Given the description of an element on the screen output the (x, y) to click on. 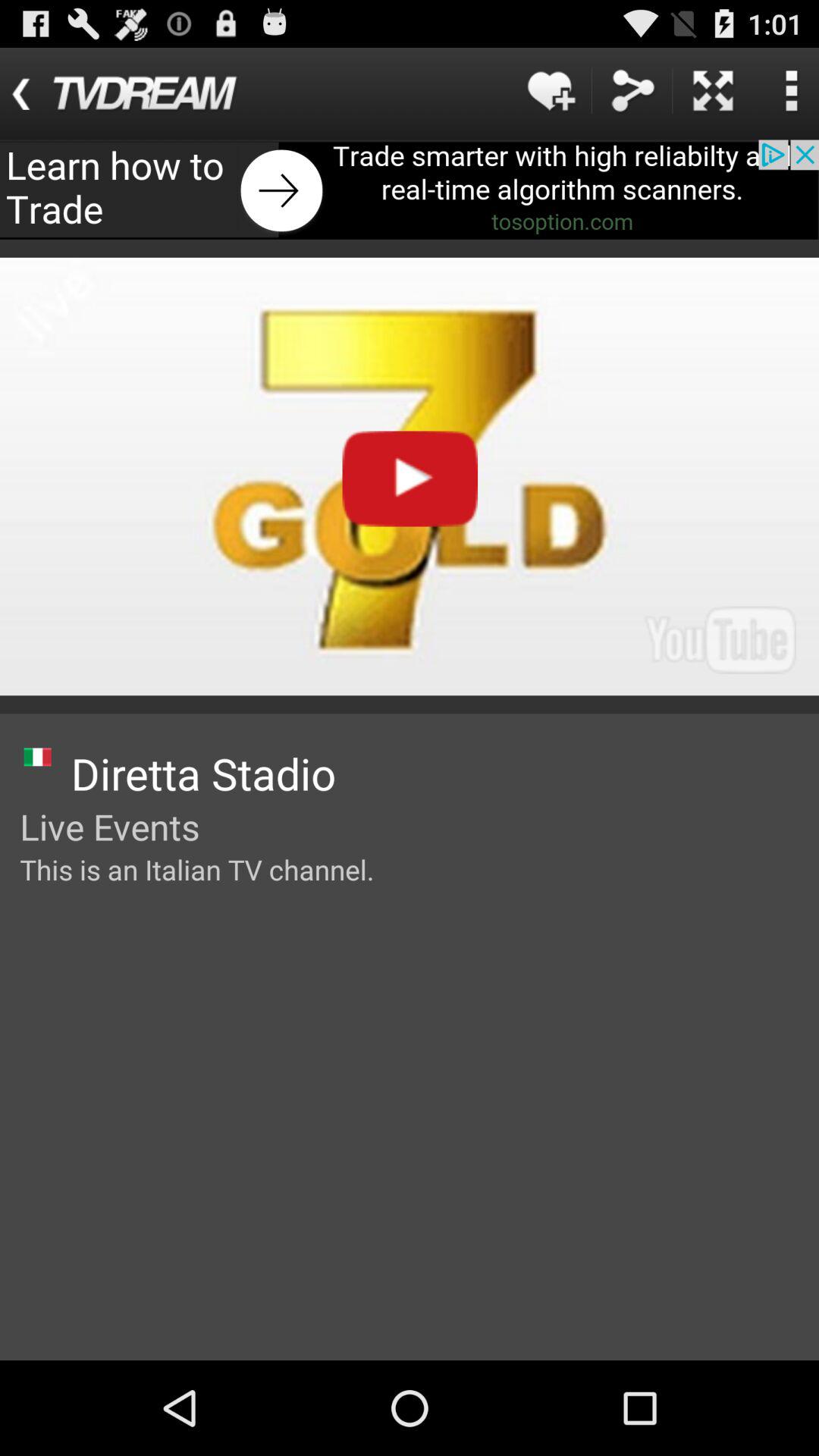
advertisement (409, 189)
